Given the description of an element on the screen output the (x, y) to click on. 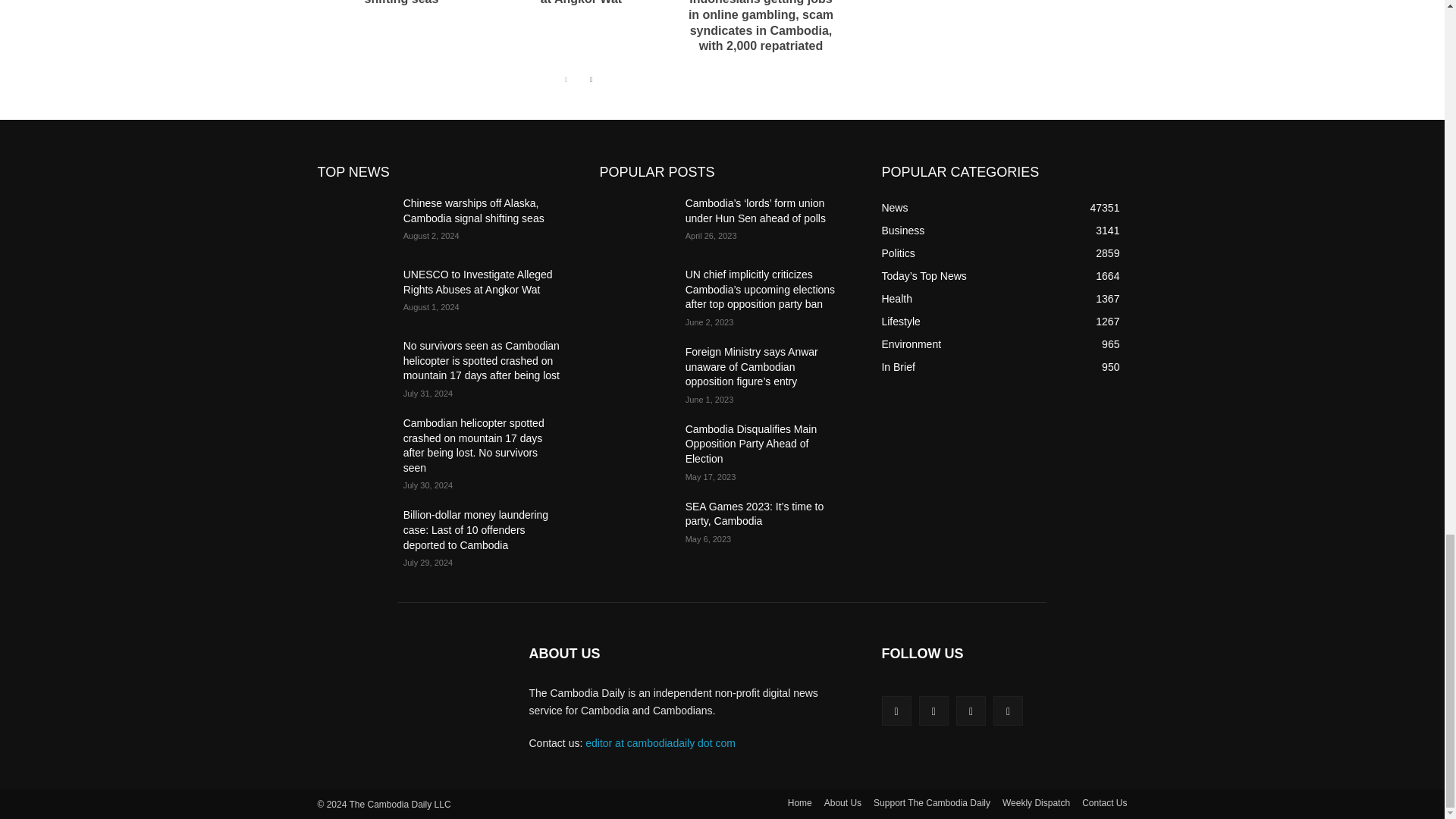
Chinese warships off Alaska, Cambodia signal shifting seas (401, 2)
UNESCO to Investigate Alleged Rights Abuses at Angkor Wat (580, 2)
Chinese warships off Alaska, Cambodia signal shifting seas (401, 2)
UNESCO to Investigate Alleged Rights Abuses at Angkor Wat (580, 2)
